Given the description of an element on the screen output the (x, y) to click on. 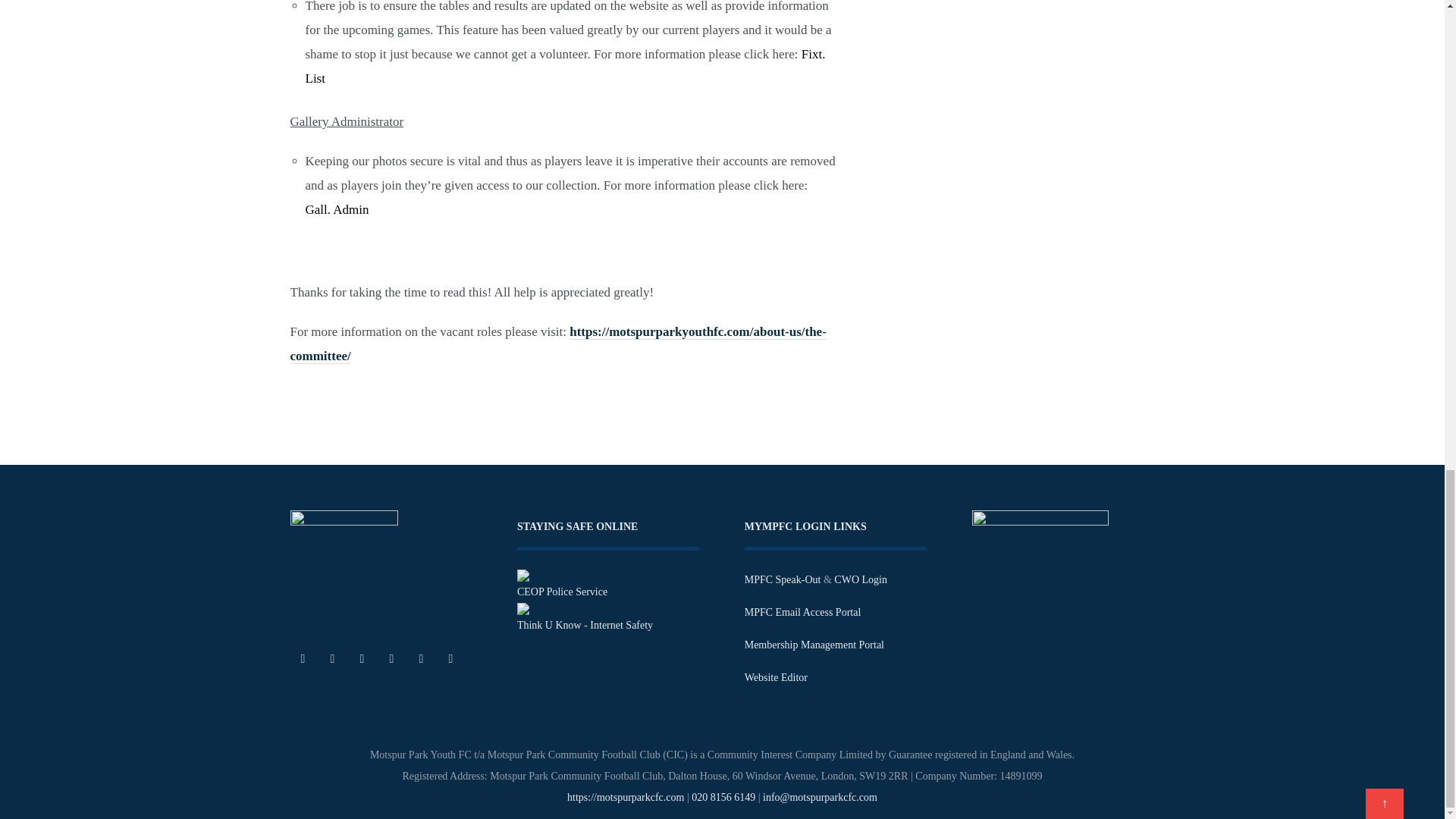
Vimeo (451, 657)
You Tube (420, 657)
Facebook (302, 657)
Twitter (333, 657)
Instagram (391, 657)
